Given the description of an element on the screen output the (x, y) to click on. 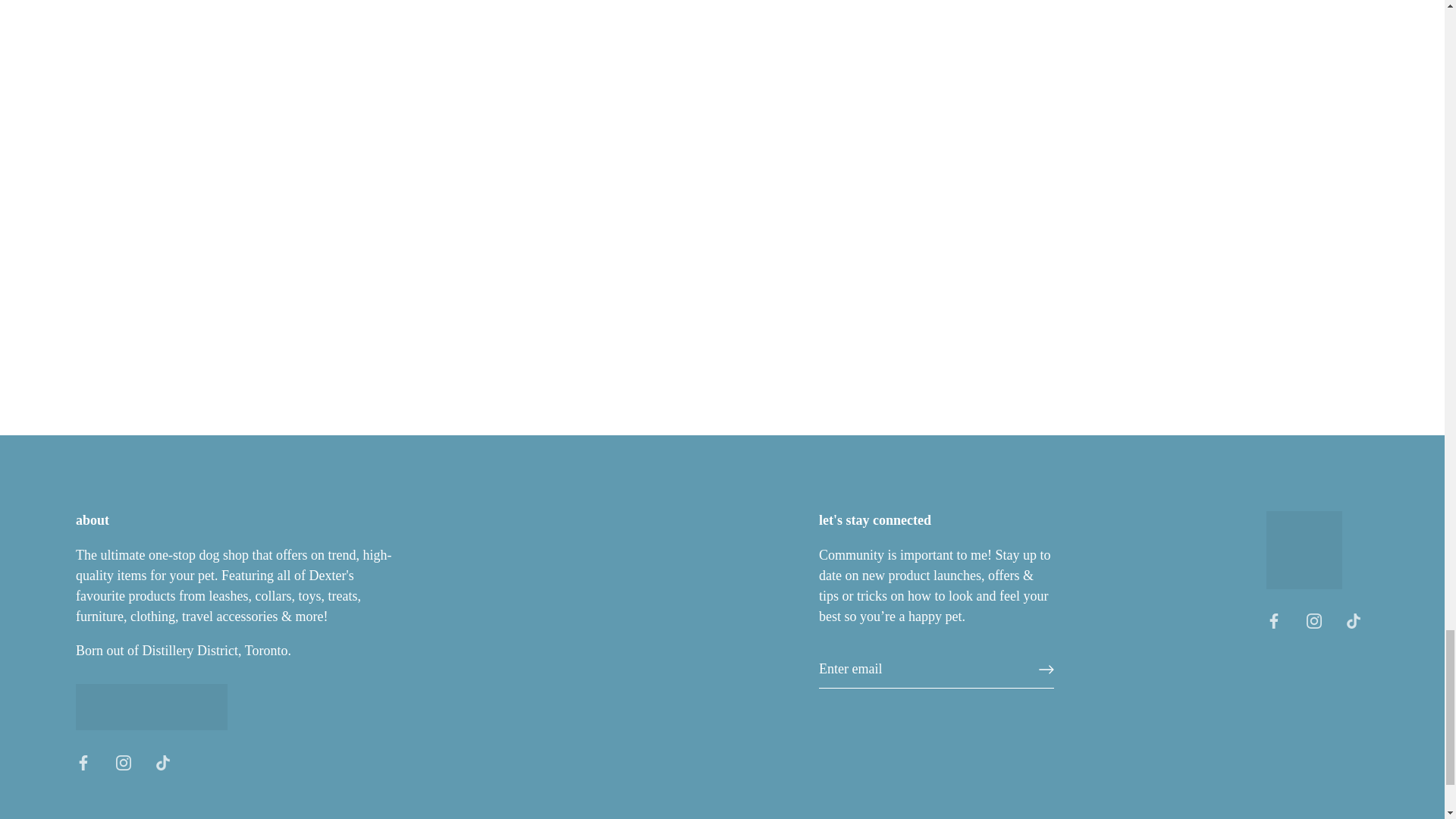
RIGHT ARROW LONG (1046, 669)
Instagram (123, 762)
Instagram (1313, 620)
